Given the description of an element on the screen output the (x, y) to click on. 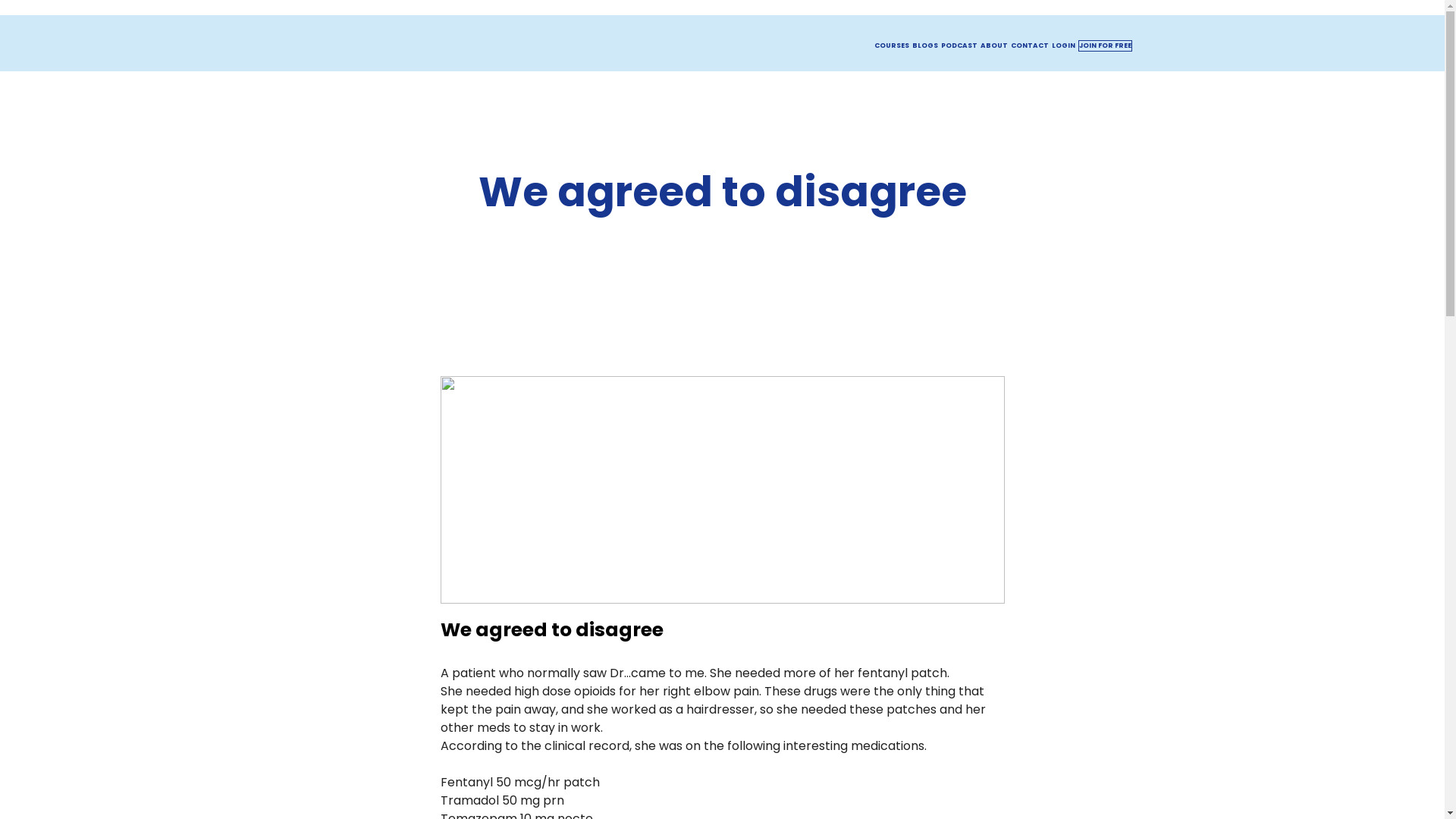
LOGIN Element type: text (1062, 45)
PODCAST Element type: text (958, 45)
JOIN FOR FREE Element type: text (1105, 45)
ABOUT Element type: text (993, 45)
BLOGS Element type: text (924, 45)
COURSES Element type: text (890, 45)
CONTACT Element type: text (1029, 45)
